Given the description of an element on the screen output the (x, y) to click on. 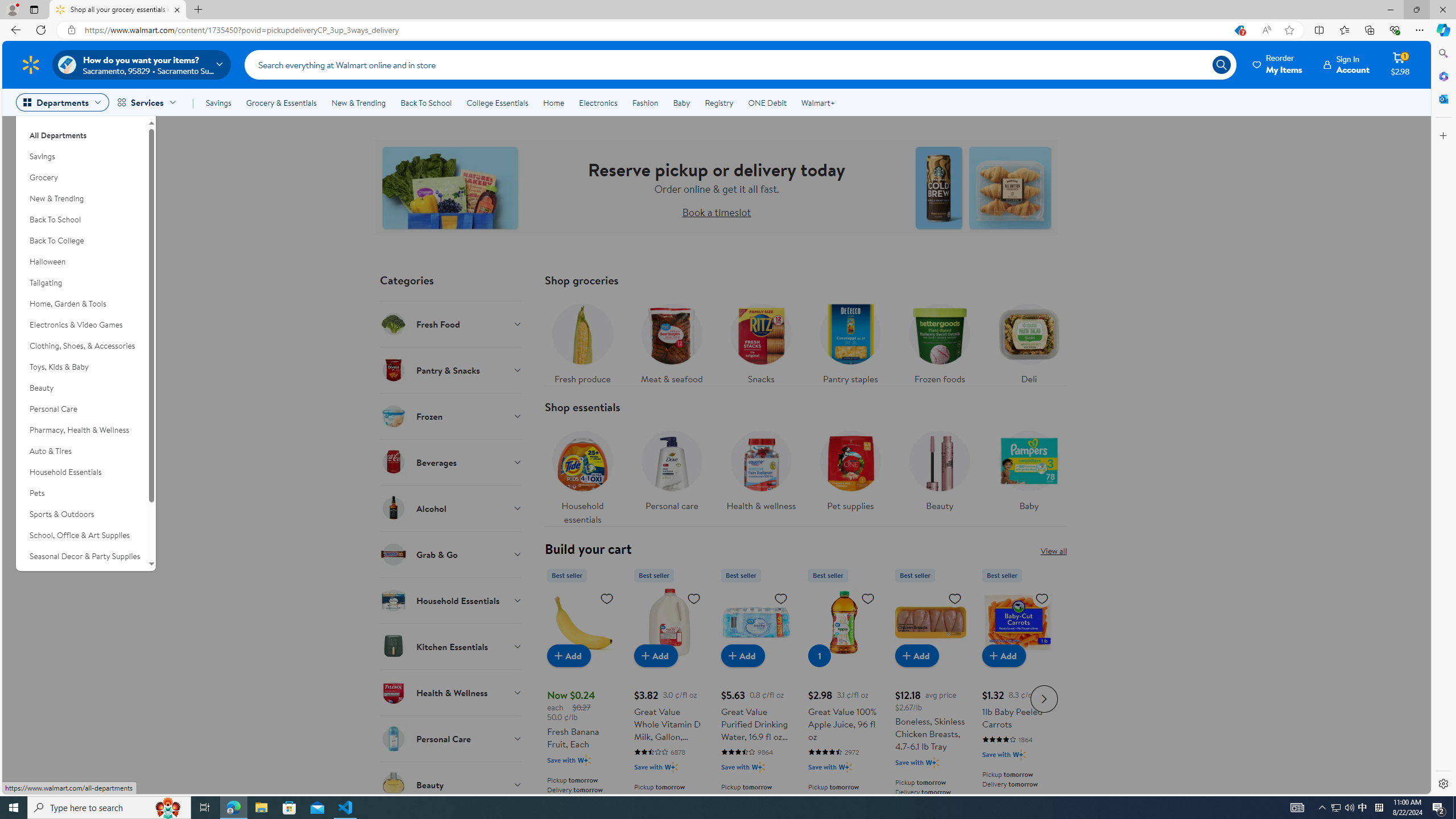
Book a timeslot (716, 211)
College Essentials (496, 102)
Shop all your grocery essentials in one place! - Walmart.com (117, 9)
Savings (217, 102)
Pantry & Snacks (451, 370)
Frozen (451, 415)
Beauty (938, 473)
ReorderMy Items (1277, 64)
